Given the description of an element on the screen output the (x, y) to click on. 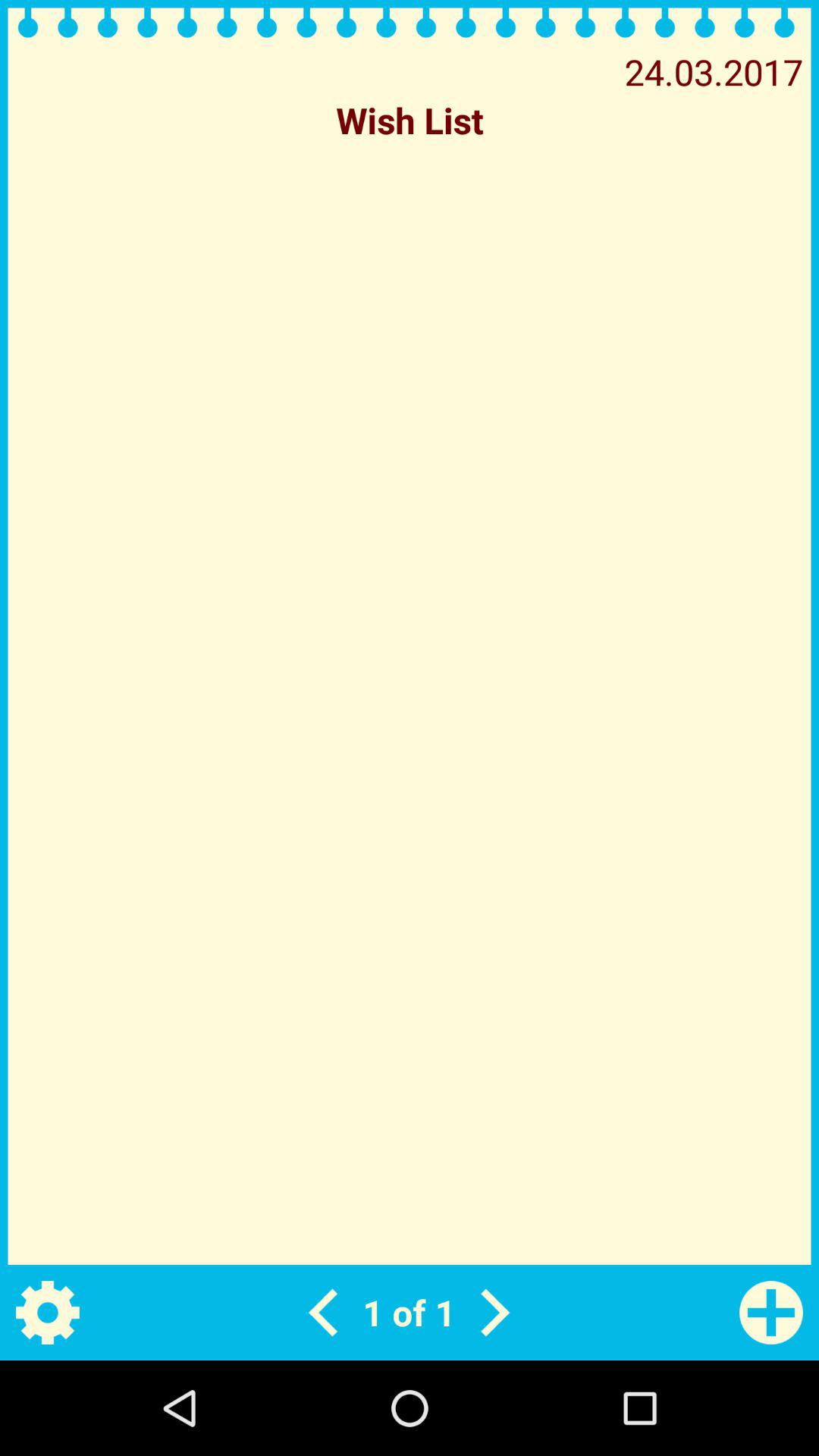
open wish list item (409, 120)
